Given the description of an element on the screen output the (x, y) to click on. 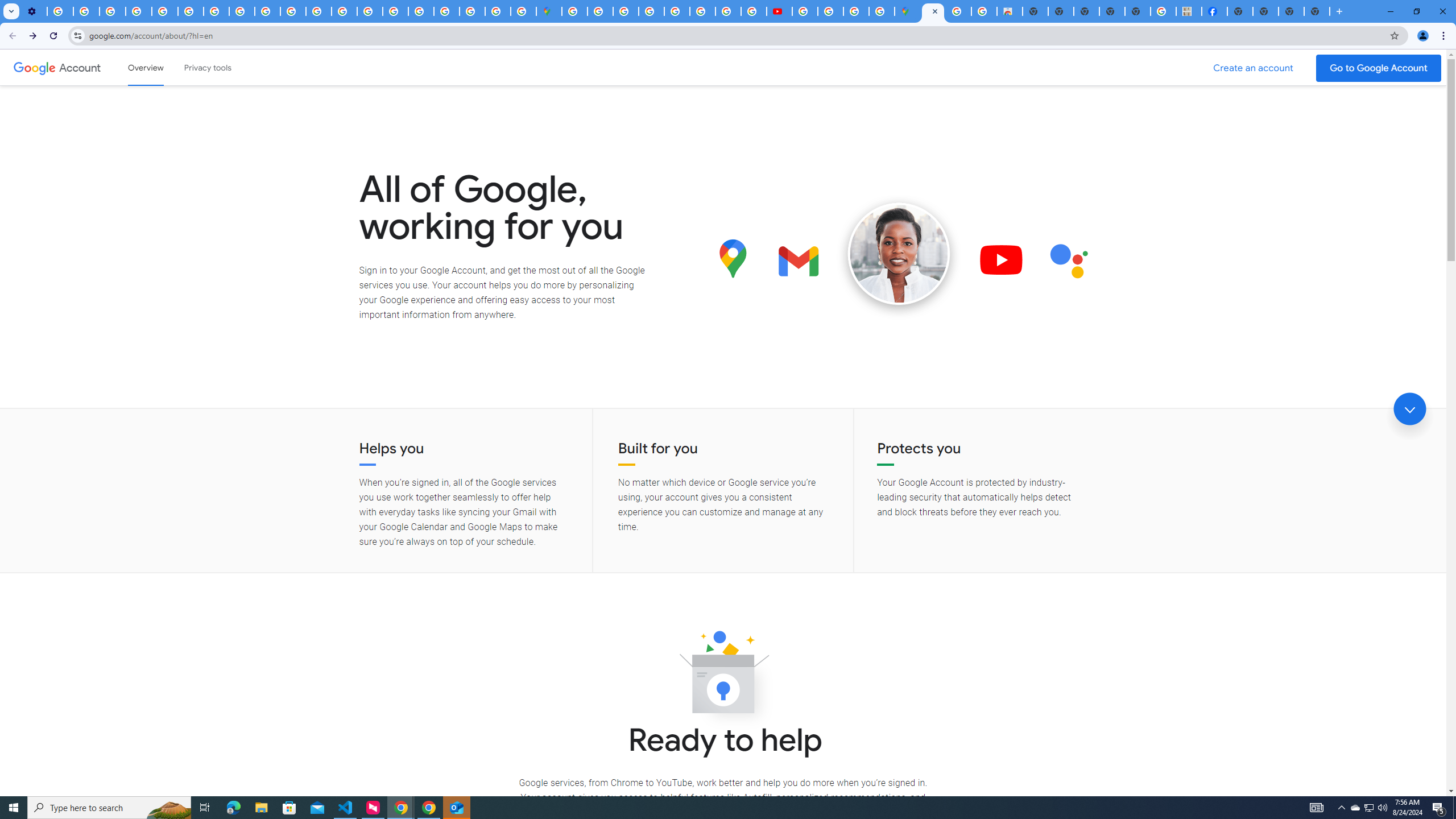
Sign in - Google Accounts (600, 11)
Delete photos & videos - Computer - Google Photos Help (60, 11)
Privacy Checkup (293, 11)
Google Maps (907, 11)
How Chrome protects your passwords - Google Chrome Help (804, 11)
Ready to help (722, 675)
Sign in - Google Accounts (574, 11)
MILEY CYRUS. (1188, 11)
Terms and Conditions (676, 11)
